Given the description of an element on the screen output the (x, y) to click on. 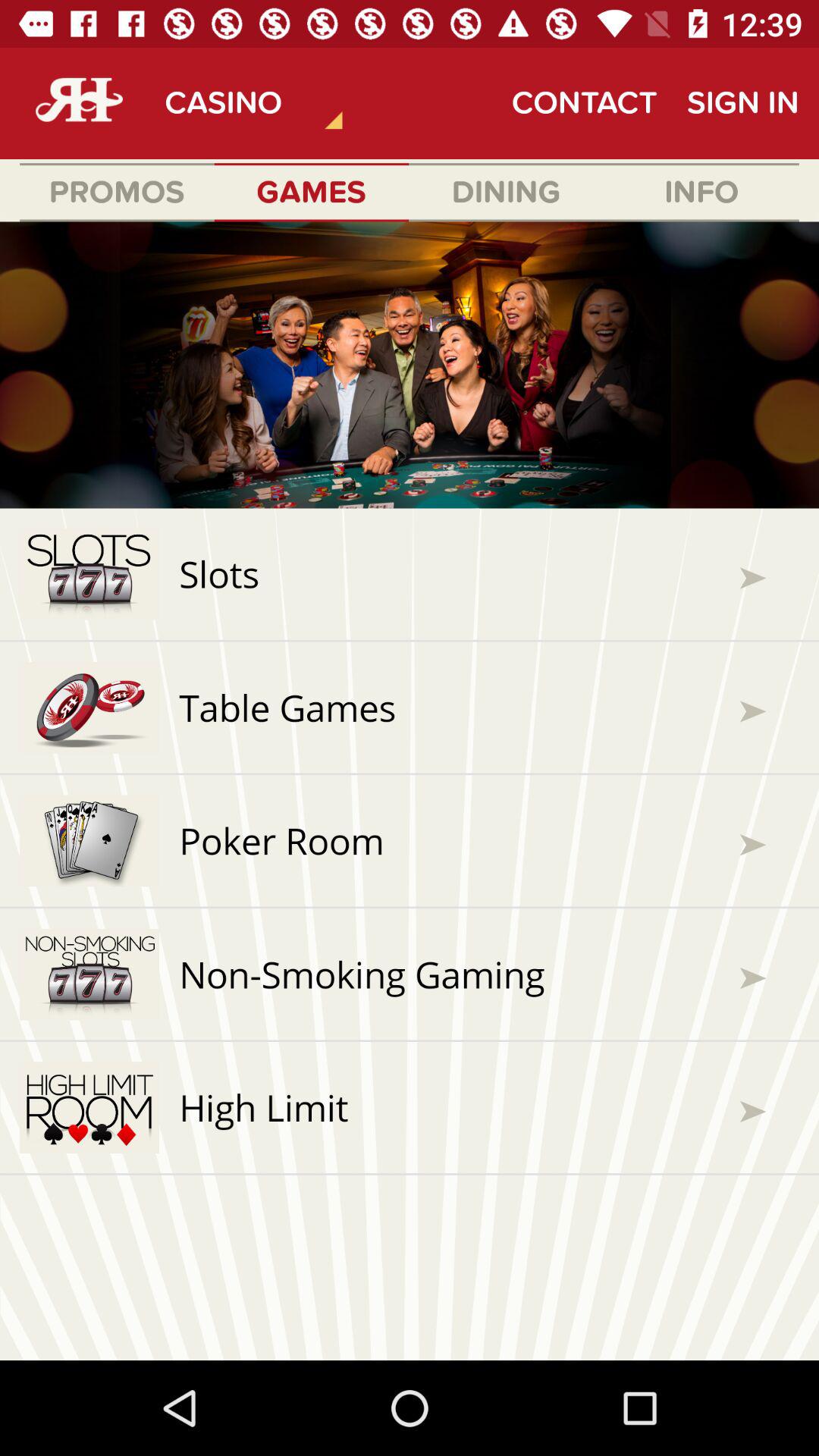
select game (409, 790)
